Given the description of an element on the screen output the (x, y) to click on. 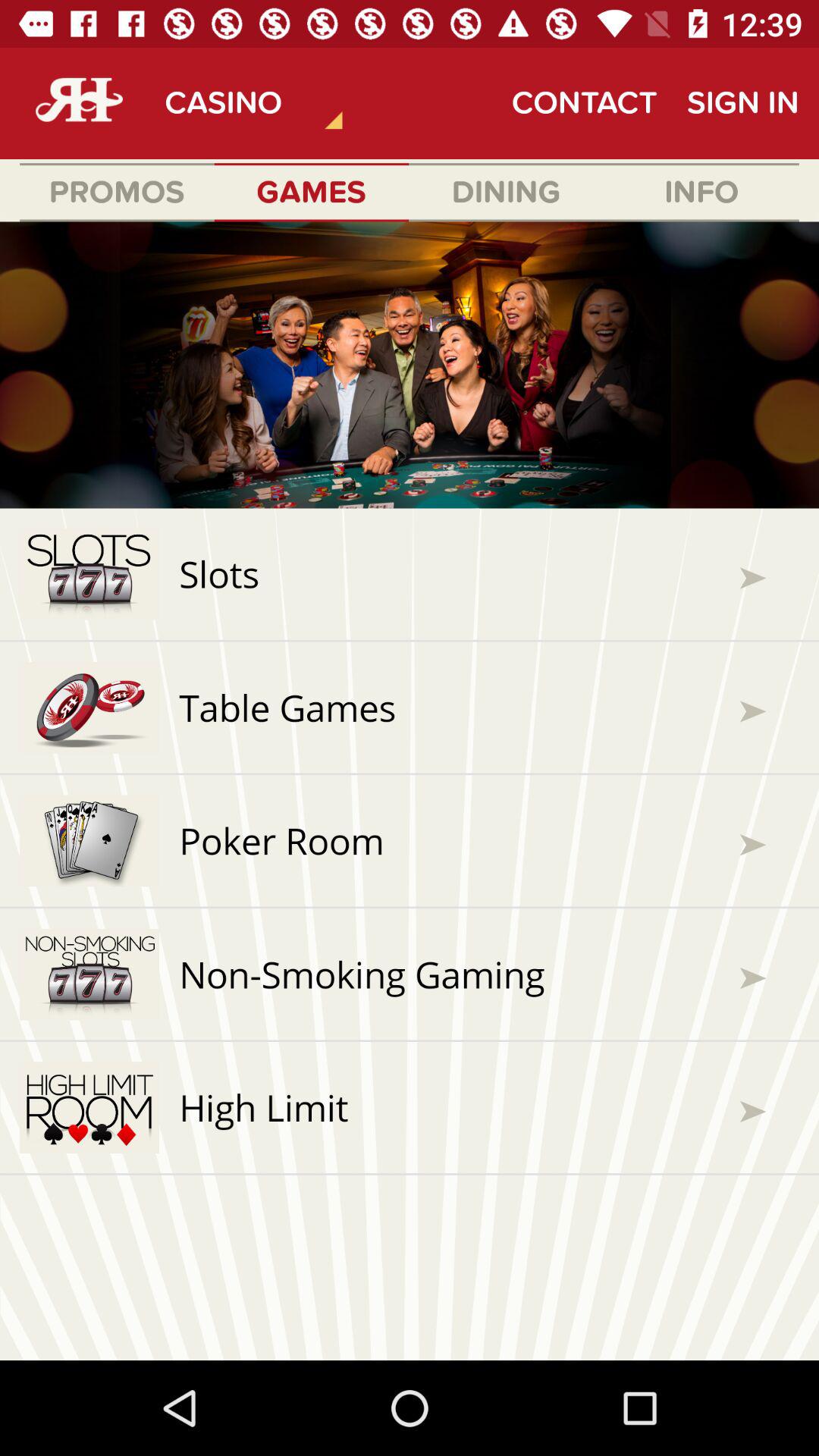
select game (409, 790)
